Given the description of an element on the screen output the (x, y) to click on. 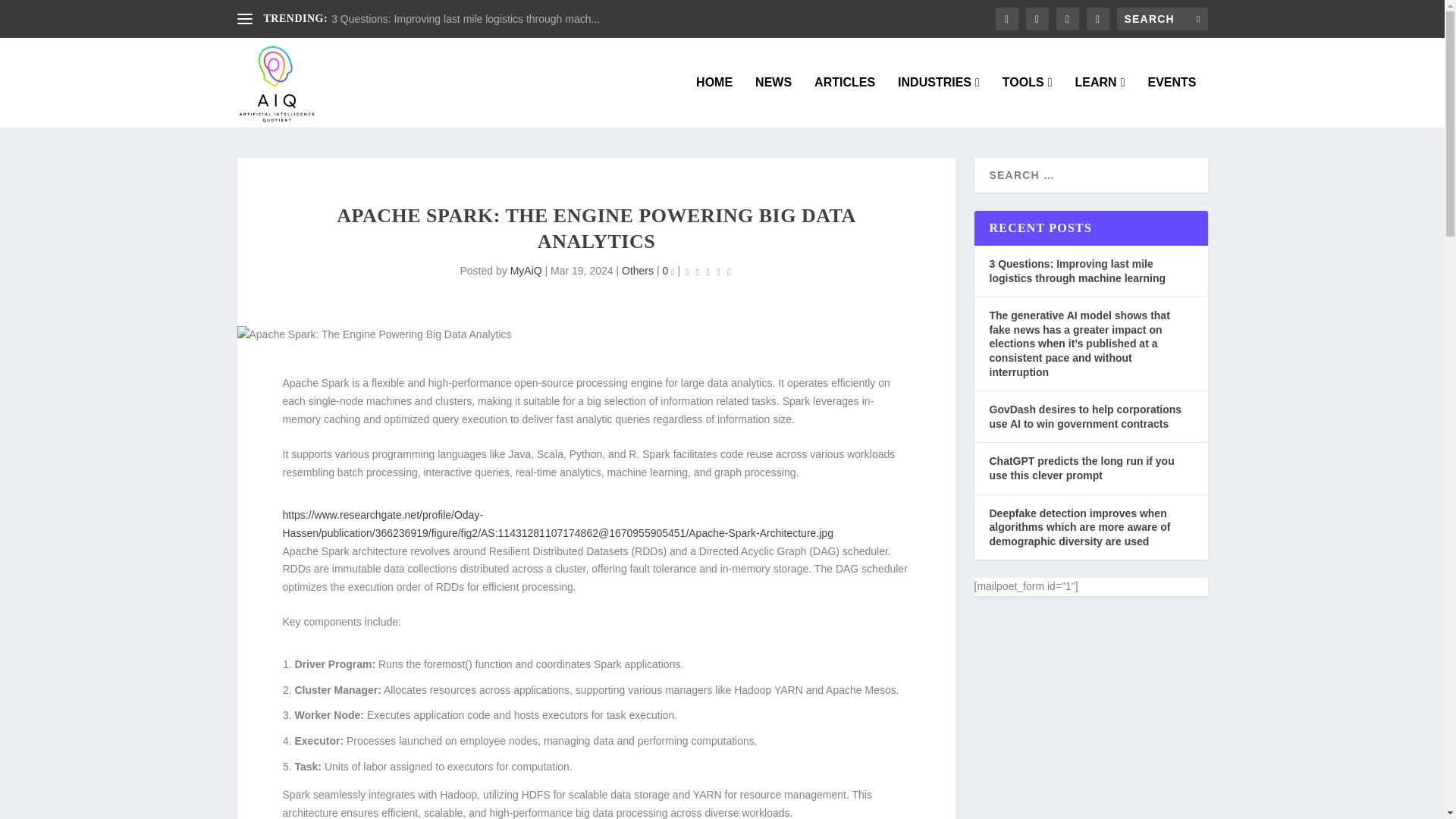
Rating: 0.00 (707, 271)
INDUSTRIES (938, 101)
TOOLS (1027, 101)
EVENTS (1171, 101)
3 Questions: Improving last mile logistics through mach... (465, 19)
LEARN (1100, 101)
ARTICLES (844, 101)
Search for: (1161, 18)
Posts by MyAiQ (526, 270)
